Given the description of an element on the screen output the (x, y) to click on. 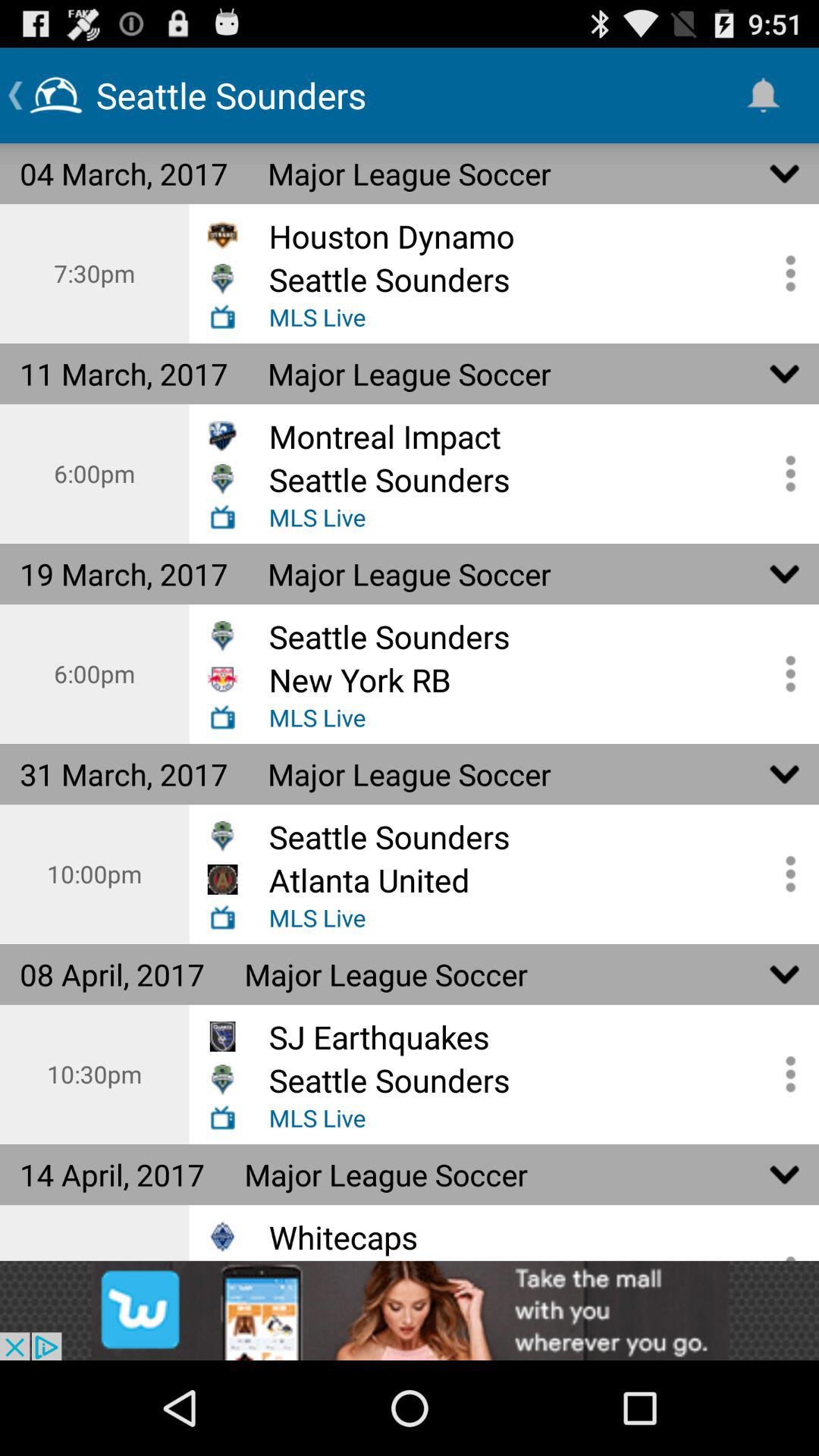
open the options (785, 273)
